Given the description of an element on the screen output the (x, y) to click on. 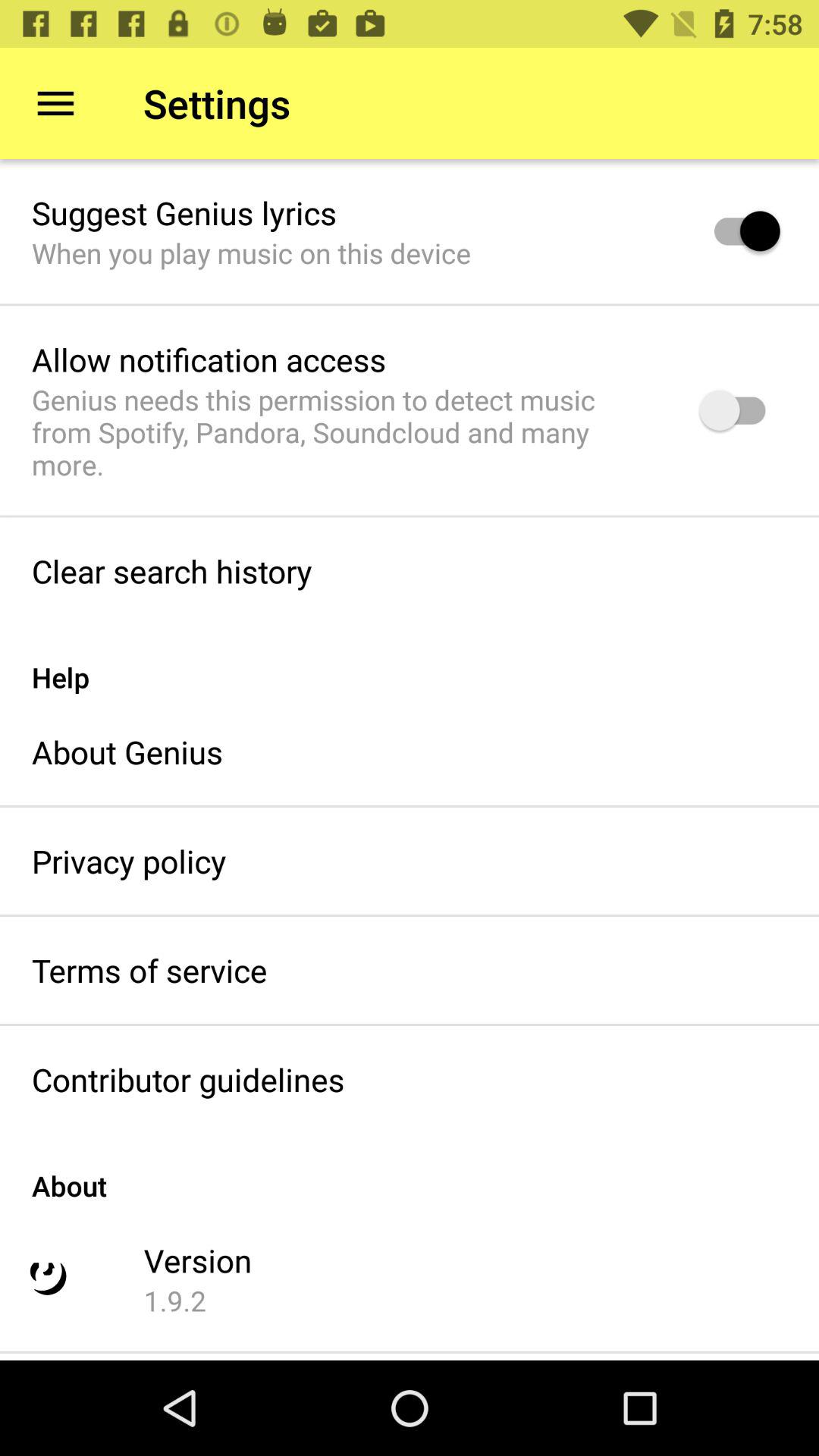
turn on the icon to the left of the settings (55, 103)
